Given the description of an element on the screen output the (x, y) to click on. 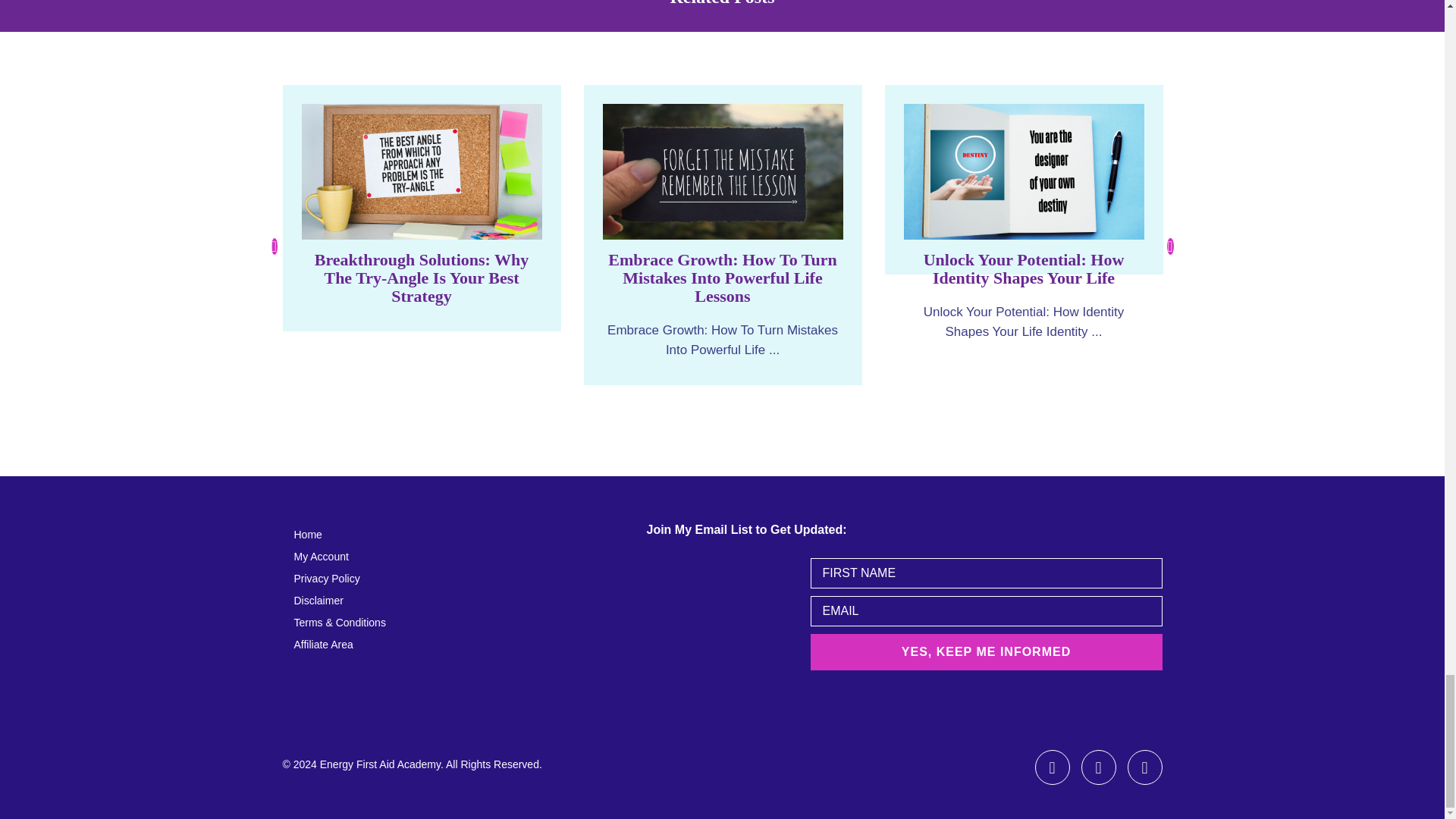
Unlock Your Potential: How Identity Shapes Your Life (1023, 268)
